Given the description of an element on the screen output the (x, y) to click on. 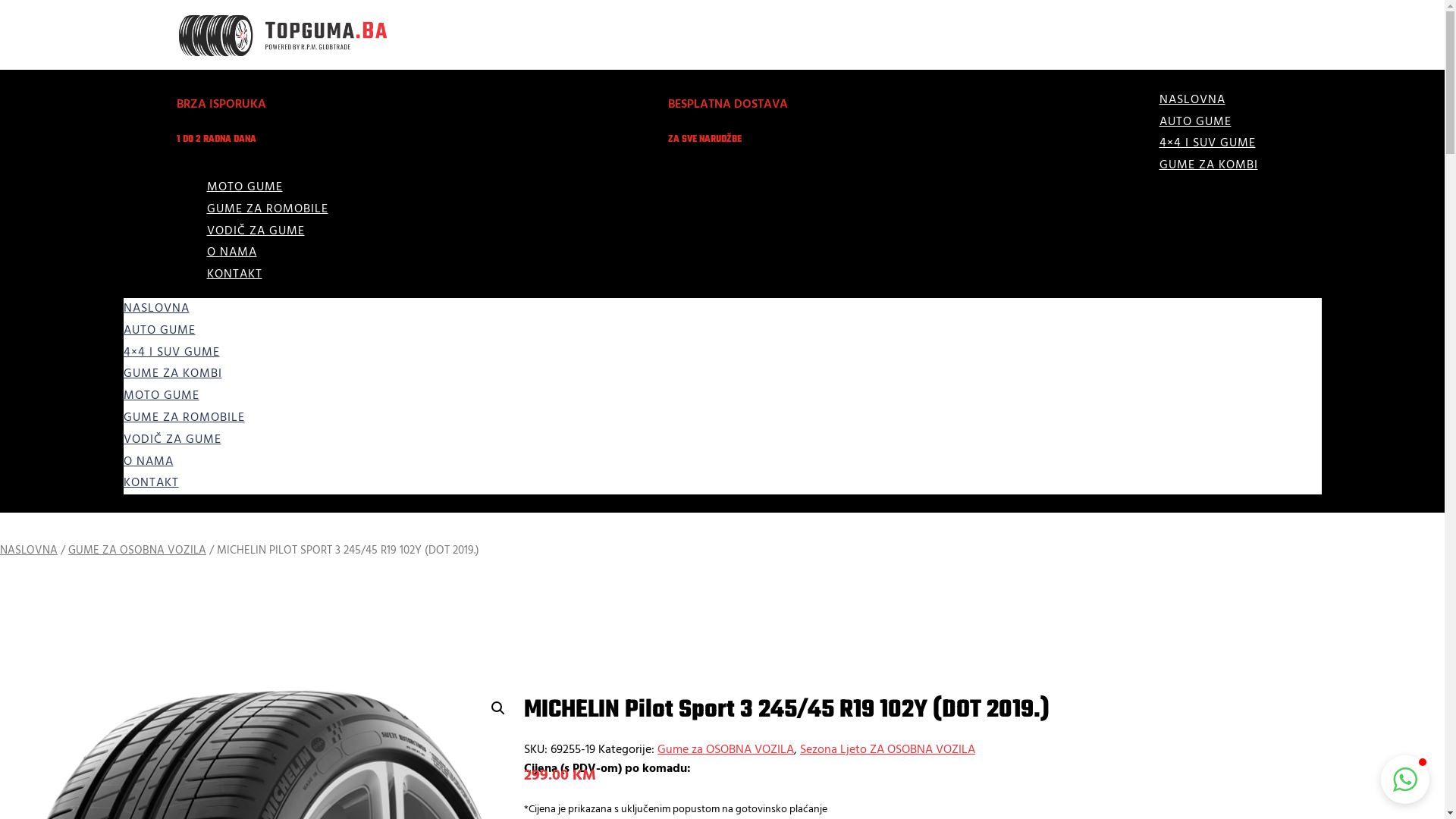
GUME ZA ROMOBILE Element type: text (266, 209)
O NAMA Element type: text (147, 461)
O NAMA Element type: text (231, 252)
AUTO GUME Element type: text (1194, 121)
GUME ZA OSOBNA VOZILA Element type: text (137, 550)
Sezona Ljeto ZA OSOBNA VOZILA Element type: text (887, 749)
NASLOVNA Element type: text (155, 308)
NASLOVNA Element type: text (28, 550)
MOTO GUME Element type: text (244, 187)
GUME ZA KOMBI Element type: text (171, 373)
AUTO GUME Element type: text (158, 330)
MOTO GUME Element type: text (160, 395)
NASLOVNA Element type: text (1191, 99)
GUME ZA KOMBI Element type: text (1207, 165)
KONTAKT Element type: text (150, 482)
GUME ZA ROMOBILE Element type: text (183, 417)
KONTAKT Element type: text (233, 274)
Gume za OSOBNA VOZILA Element type: text (725, 749)
